Given the description of an element on the screen output the (x, y) to click on. 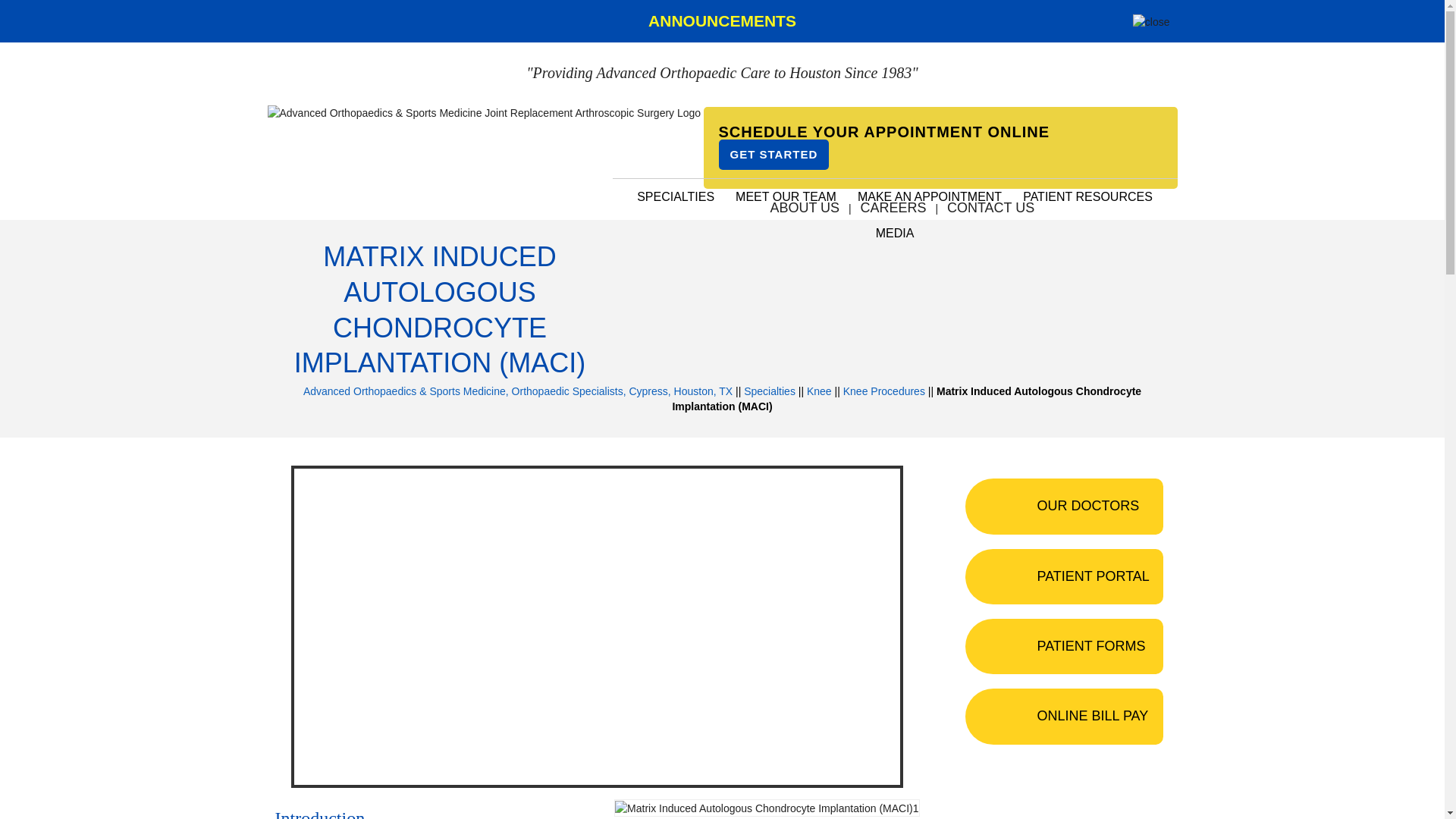
PATIENT RESOURCES (1087, 197)
SPECIALTIES (675, 197)
CAREERS (892, 207)
ABOUT US (803, 207)
MEET OUR TEAM (786, 197)
MAKE AN APPOINTMENT (929, 197)
ANNOUNCEMENTS (721, 20)
GET STARTED (774, 154)
CONTACT US (990, 207)
